Given the description of an element on the screen output the (x, y) to click on. 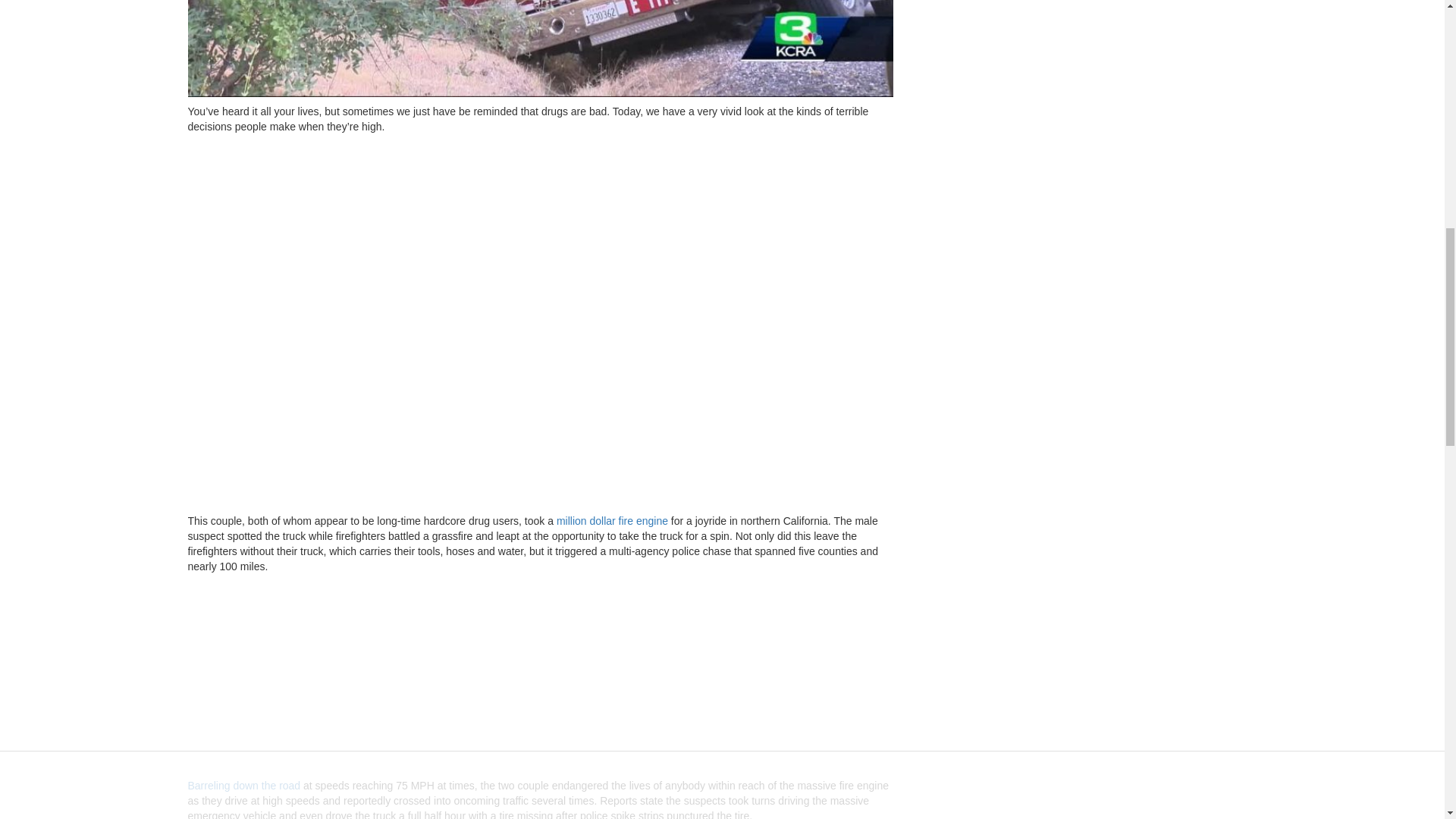
million dollar fire engine (612, 521)
Barreling down the road (244, 785)
